Given the description of an element on the screen output the (x, y) to click on. 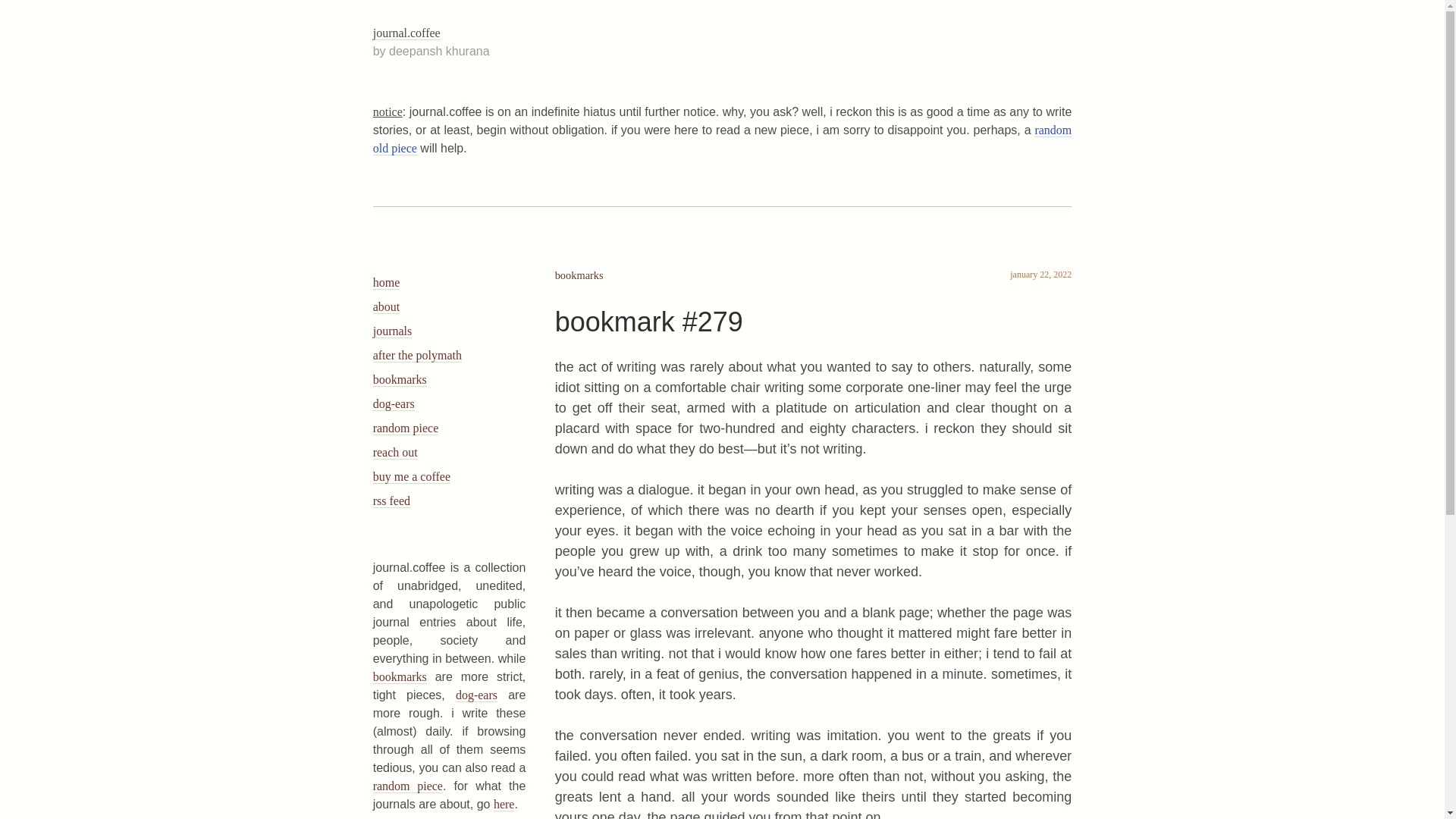
random old piece (721, 139)
bookmarks (579, 275)
about (386, 306)
bookmarks (399, 676)
dog-ears (476, 694)
rss feed (391, 500)
random piece (407, 786)
bookmarks (399, 379)
journal.coffee (406, 33)
home (386, 282)
dog-ears (393, 404)
buy me a coffee (410, 477)
after the polymath (416, 355)
journals (392, 331)
